Given the description of an element on the screen output the (x, y) to click on. 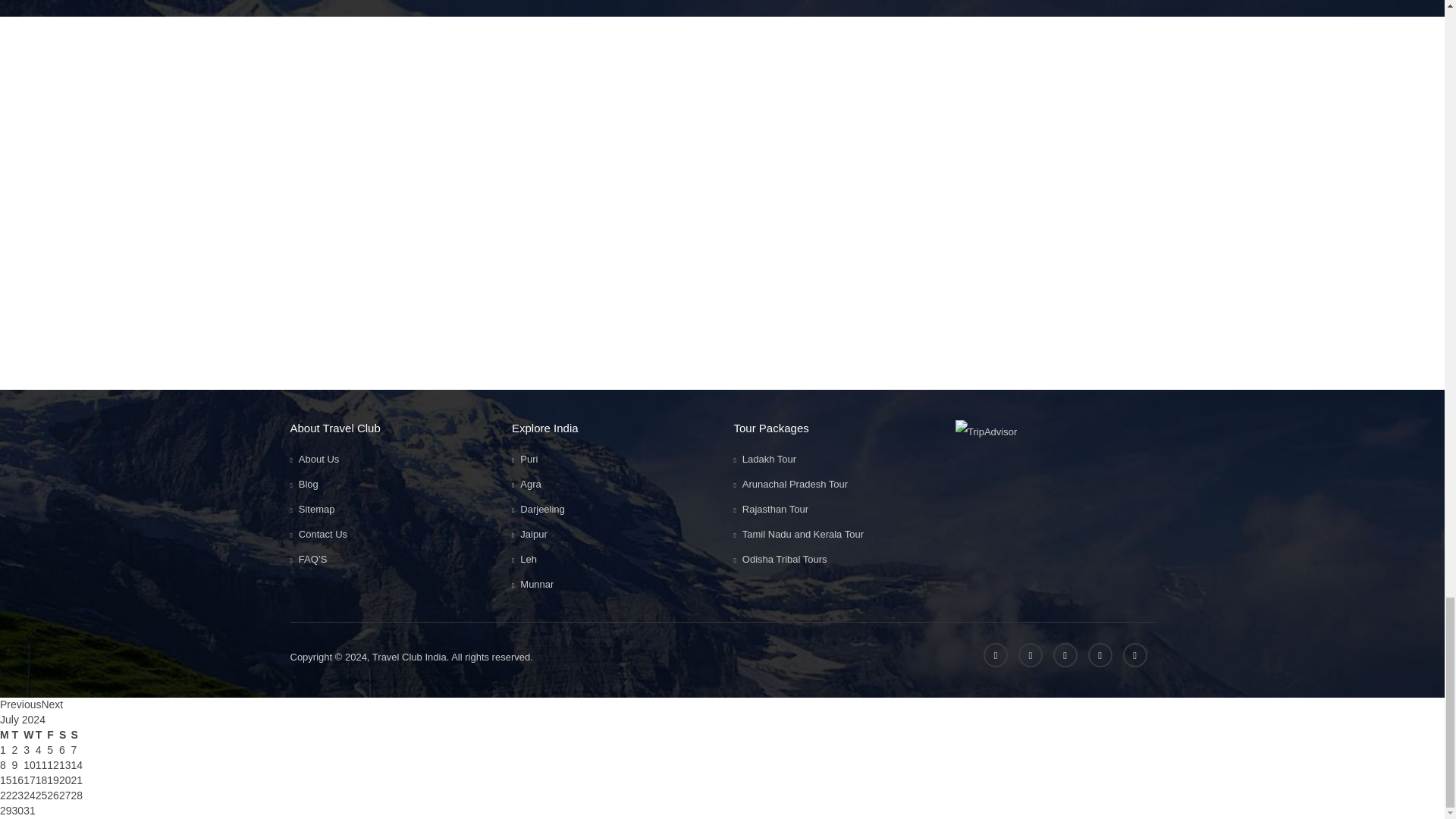
Previous (20, 704)
Next (51, 704)
